Given the description of an element on the screen output the (x, y) to click on. 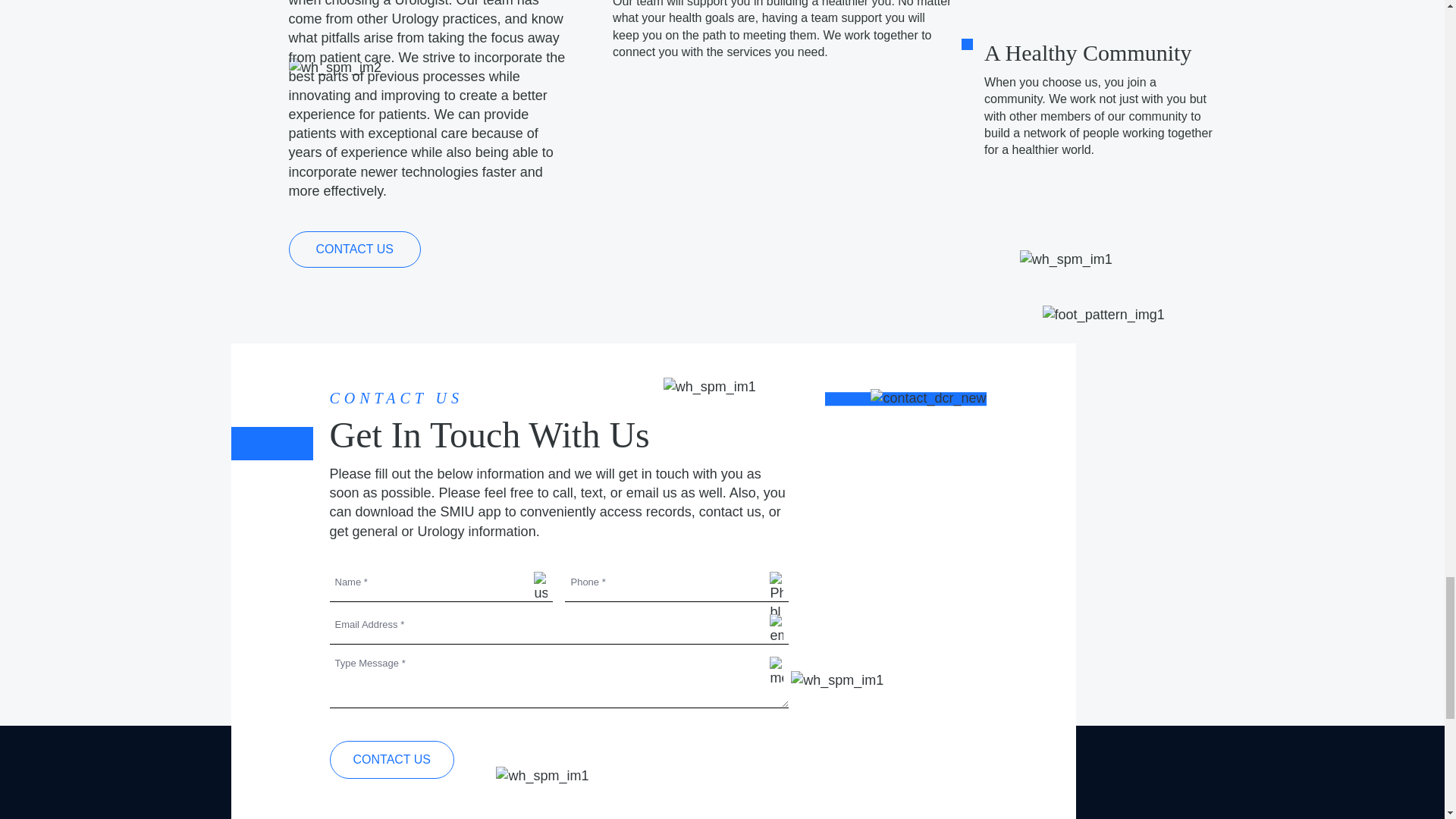
Contact Us (391, 759)
